Given the description of an element on the screen output the (x, y) to click on. 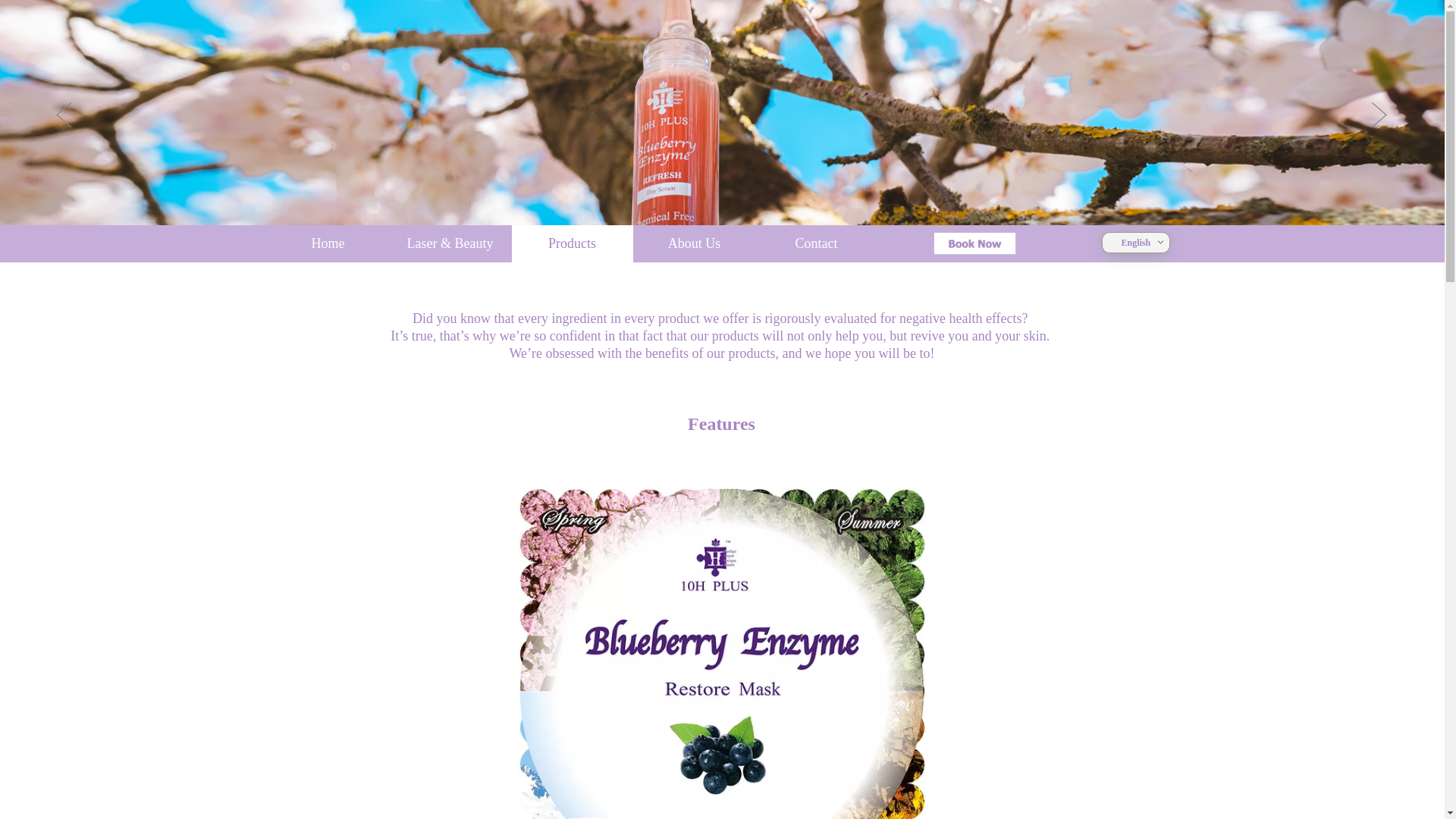
Products Element type: text (571, 243)
About Us Element type: text (694, 243)
Home Element type: text (327, 243)
Laser & Beauty Element type: text (450, 243)
Contact Element type: text (815, 243)
English Element type: text (1135, 241)
Home Element type: text (327, 243)
shop here Element type: hover (973, 243)
